Given the description of an element on the screen output the (x, y) to click on. 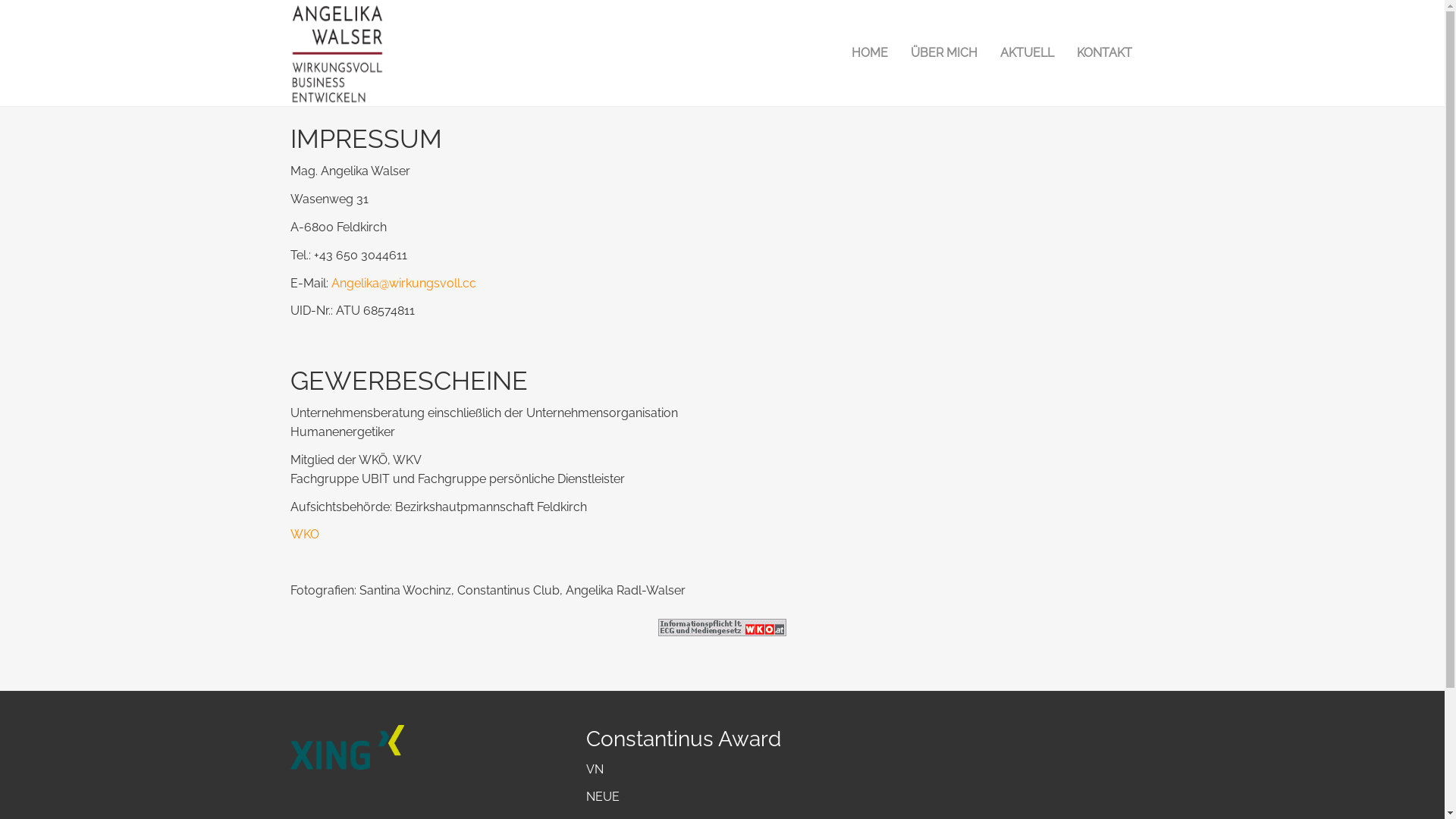
AKTUELL Element type: text (1026, 53)
Angelika@wirkungsvoll.cc Element type: text (402, 283)
HOME Element type: text (869, 53)
VN Element type: text (593, 769)
WKO Element type: text (303, 534)
KONTAKT Element type: text (1103, 53)
NEUE Element type: text (601, 796)
